Given the description of an element on the screen output the (x, y) to click on. 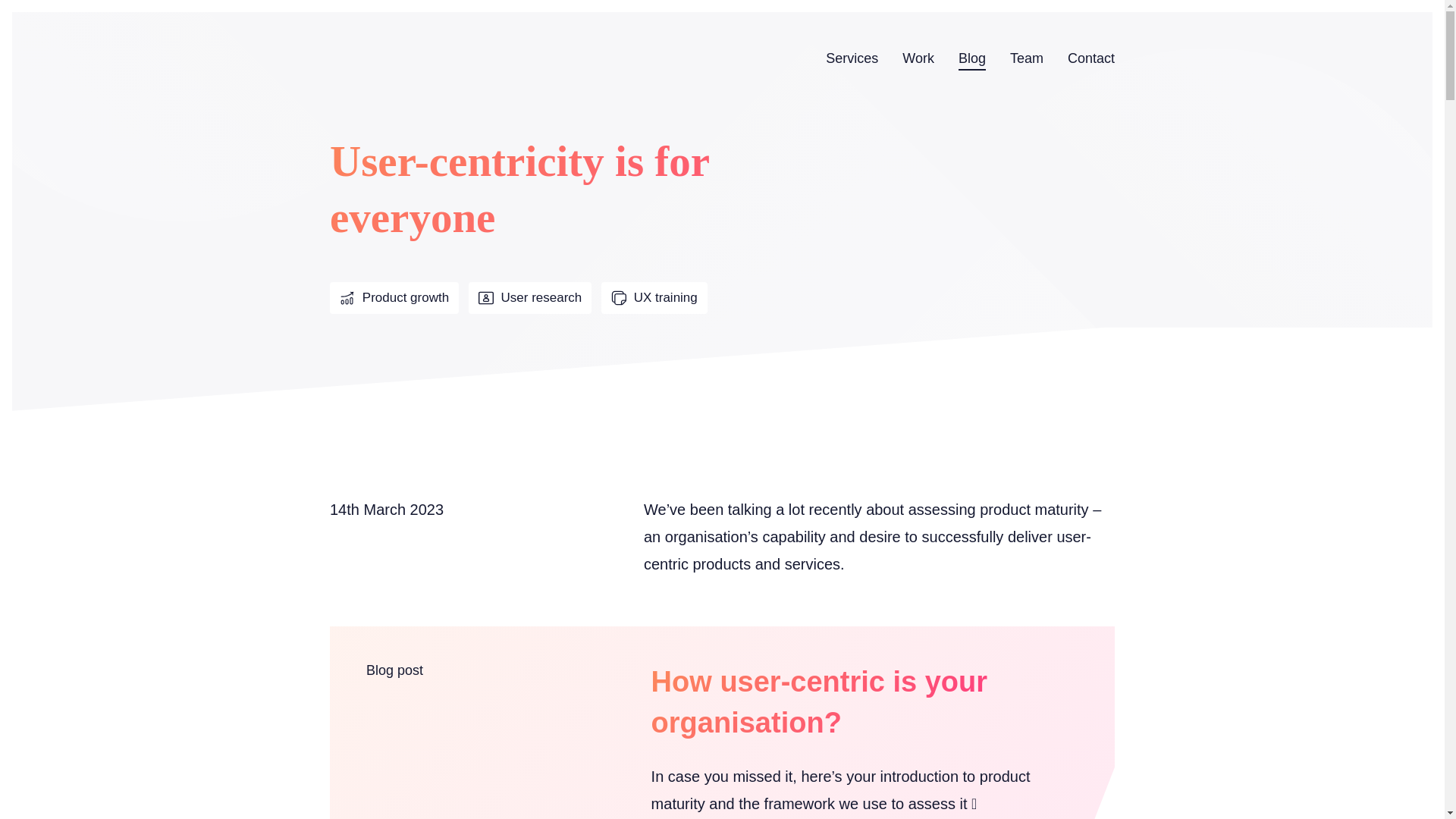
Team (1026, 57)
Product growth (394, 297)
UX training (654, 297)
Blog (971, 57)
User research (529, 297)
Work (918, 57)
Contact (1091, 57)
Services (851, 57)
